Given the description of an element on the screen output the (x, y) to click on. 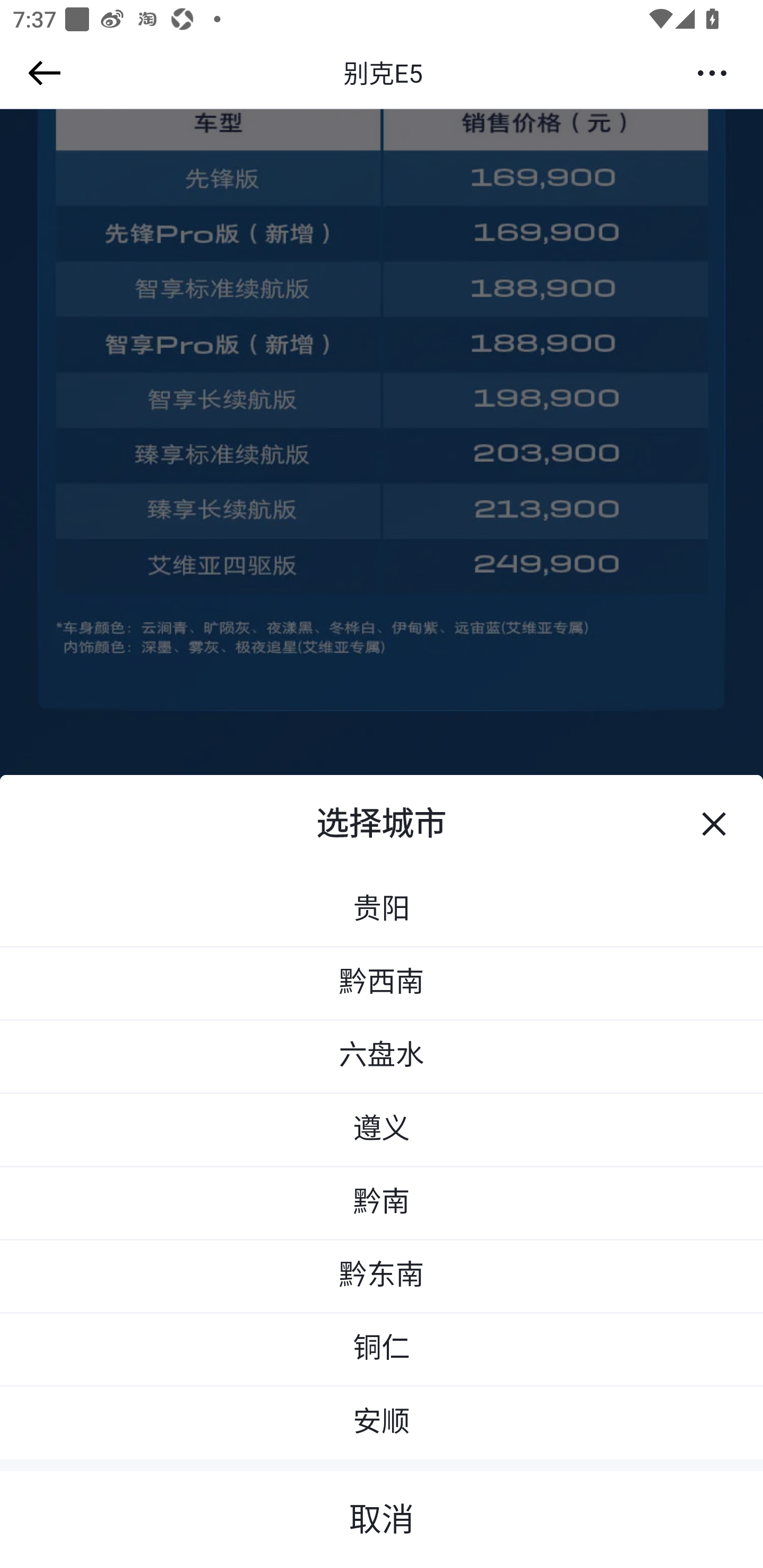
 (41, 72)
贵阳 (381, 909)
黔西南 (381, 984)
六盘水 (381, 1057)
遵义 (381, 1130)
黔南 (381, 1203)
黔东南 (381, 1276)
铜仁 (381, 1349)
安顺 (381, 1422)
取消 (381, 1513)
